Given the description of an element on the screen output the (x, y) to click on. 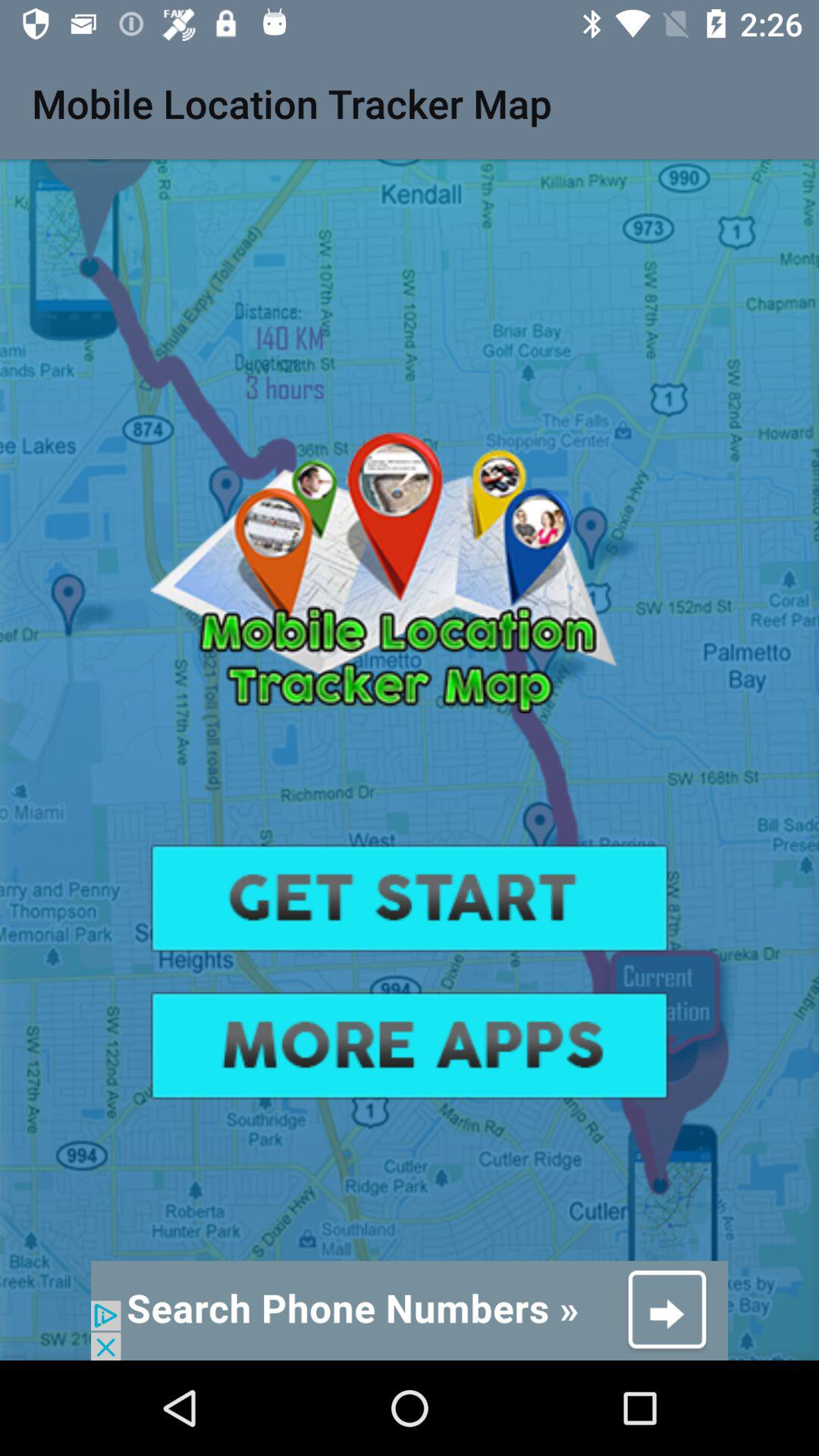
advert banner (409, 1310)
